Given the description of an element on the screen output the (x, y) to click on. 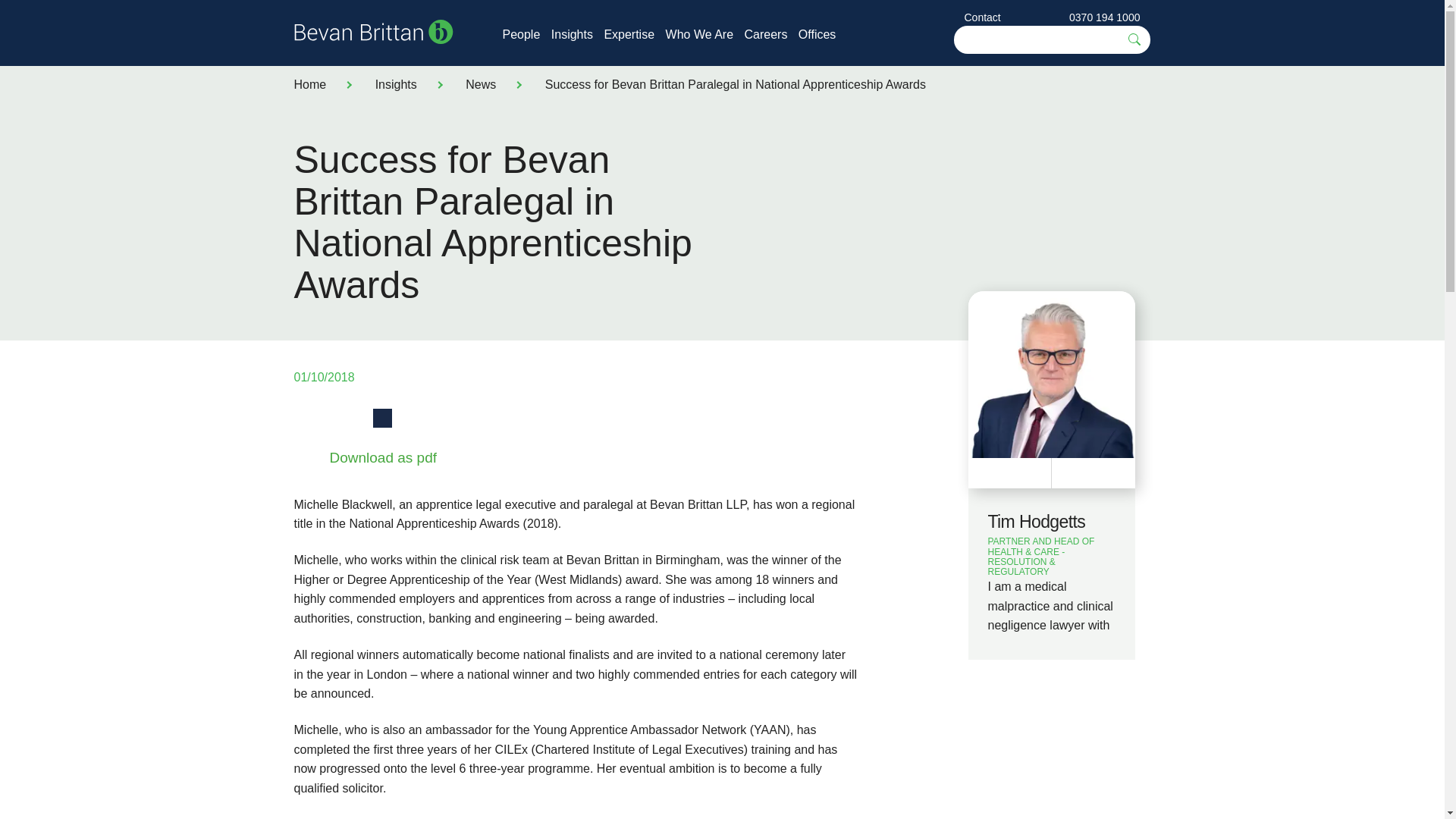
Offices (816, 33)
Insights (395, 83)
LinkedIn (381, 417)
Contact (982, 17)
0370 194 1000 (1104, 17)
Careers (765, 33)
Email (419, 417)
People (521, 33)
Who We Are (699, 33)
